Given the description of an element on the screen output the (x, y) to click on. 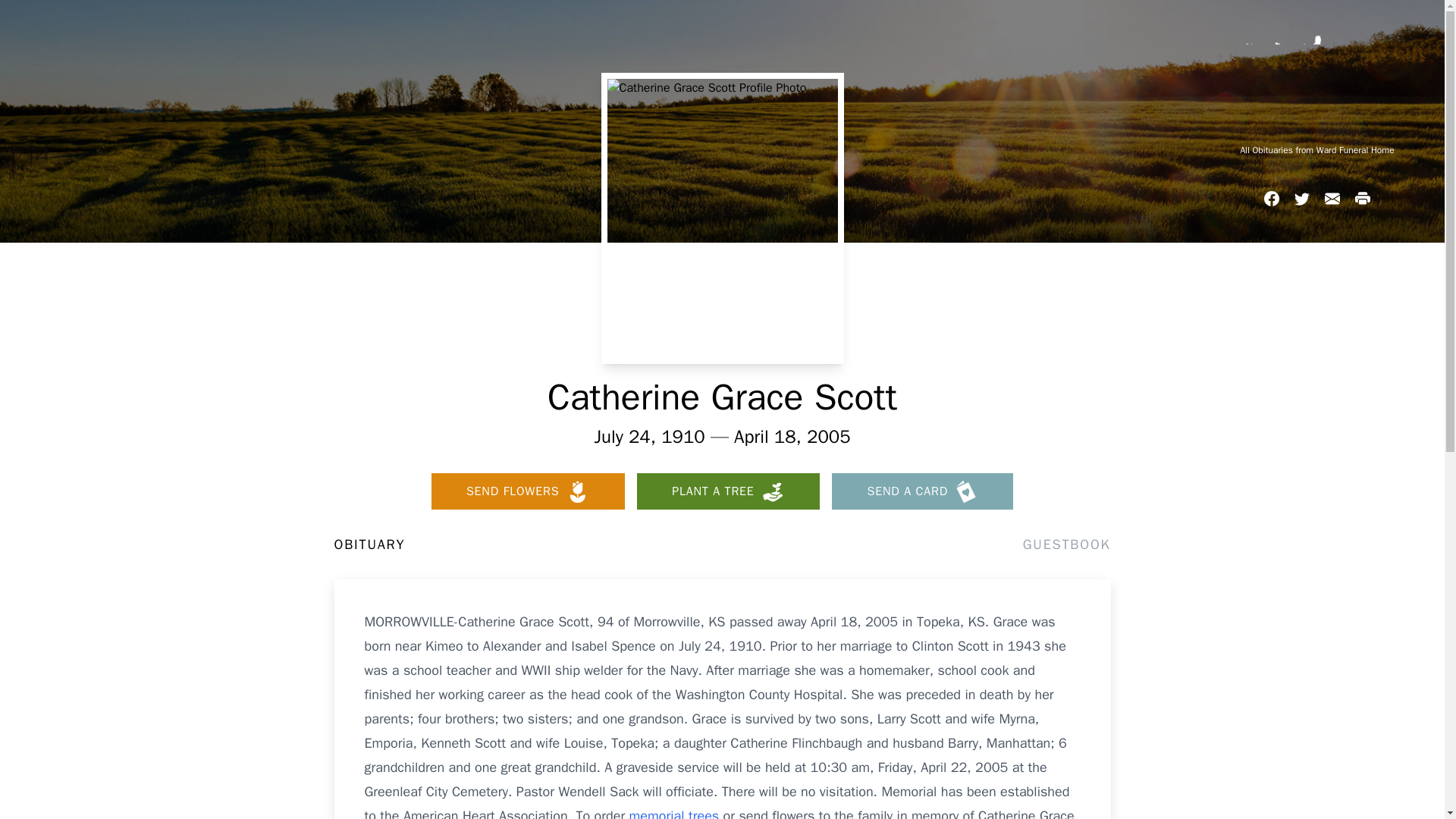
All Obituaries from Ward Funeral Home (1316, 150)
SEND A CARD (922, 491)
memorial trees (673, 813)
SEND FLOWERS (527, 491)
OBITUARY (368, 544)
PLANT A TREE (728, 491)
GUESTBOOK (1066, 544)
